Given the description of an element on the screen output the (x, y) to click on. 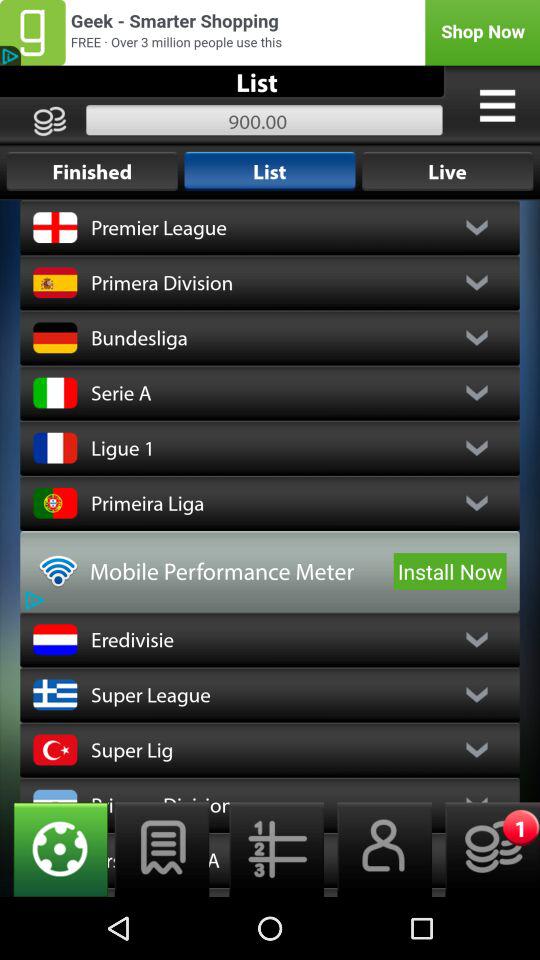
scroll to mobile performance meter icon (238, 571)
